Given the description of an element on the screen output the (x, y) to click on. 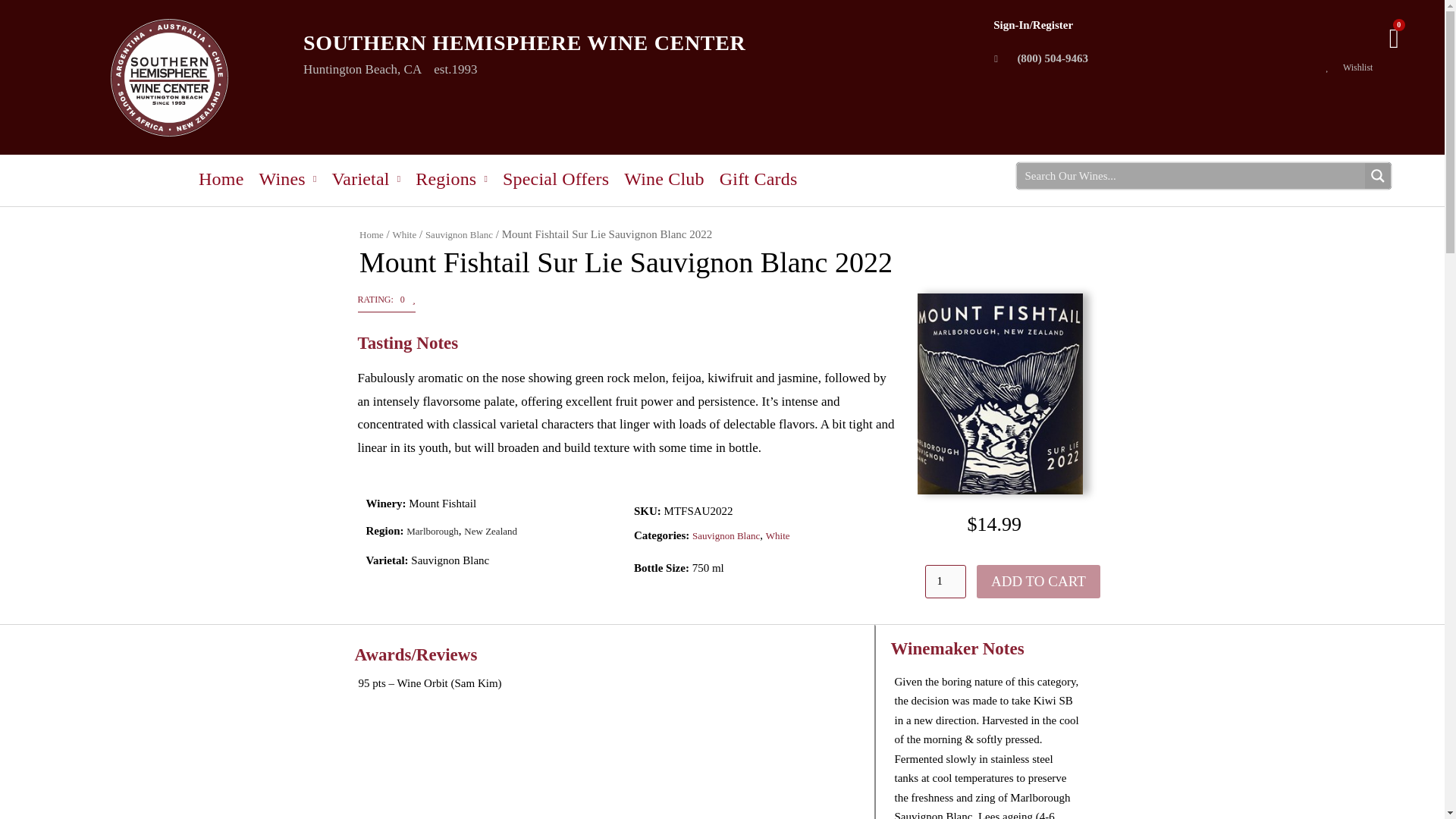
Wishlist (1370, 67)
Varietal (365, 178)
SOUTHERN HEMISPHERE WINE CENTER (523, 42)
1 (945, 581)
Wines (287, 178)
0 (1394, 38)
Home (220, 178)
